Given the description of an element on the screen output the (x, y) to click on. 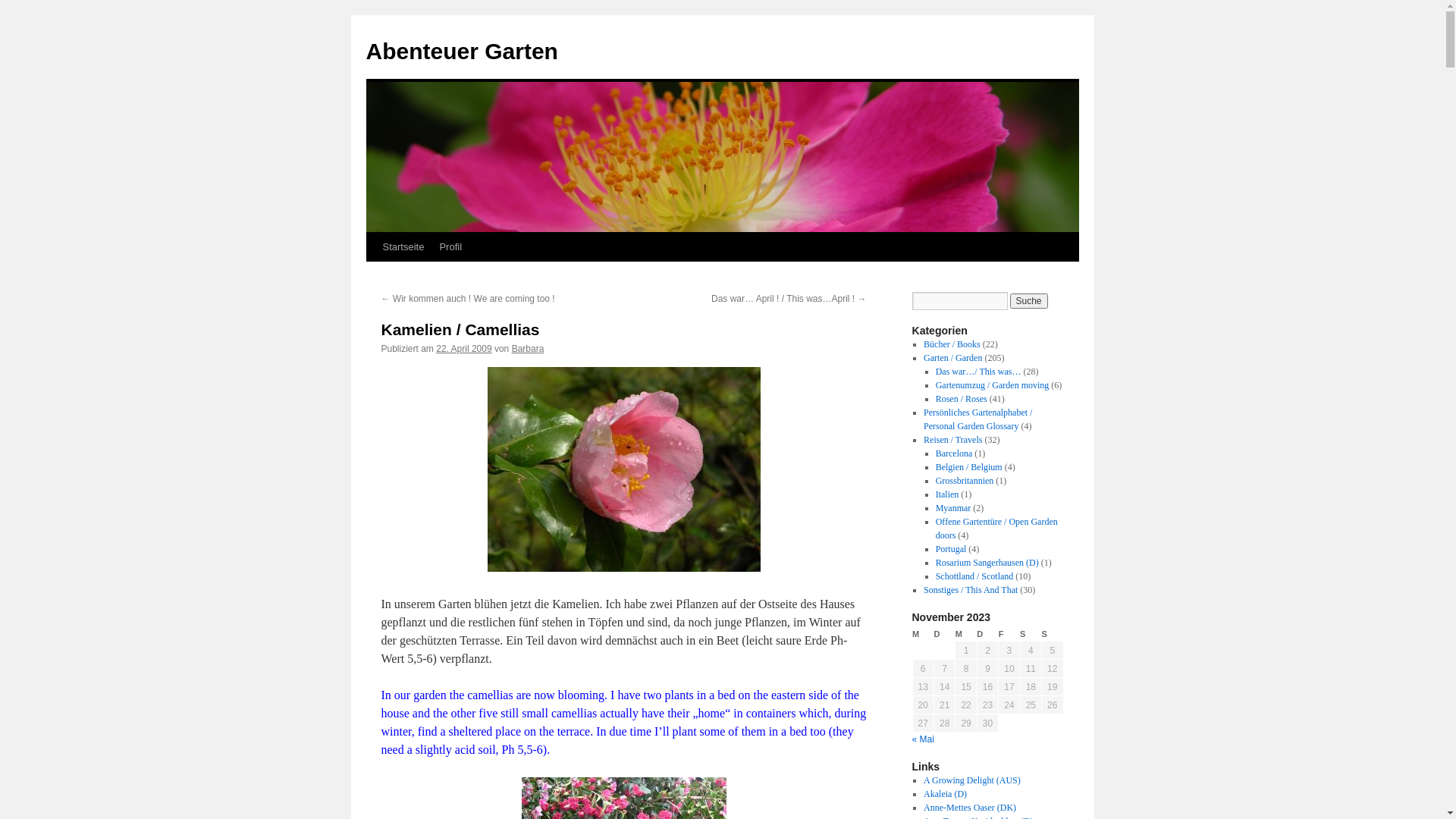
Profil Element type: text (450, 246)
Rosarium Sangerhausen (D) Element type: text (986, 562)
Garten / Garden Element type: text (952, 357)
dscn4454.jpg Element type: hover (622, 567)
Reisen / Travels Element type: text (952, 439)
Akaleia (D) Element type: text (944, 793)
A Growing Delight (AUS) Element type: text (971, 780)
Zum Inhalt springen Element type: text (372, 275)
Suche Element type: text (1029, 300)
Abenteuer Garten Element type: text (461, 50)
Myanmar Element type: text (953, 507)
Belgien / Belgium Element type: text (968, 466)
Gartenumzug / Garden moving Element type: text (992, 384)
Anne-Mettes Oaser (DK) Element type: text (969, 807)
Portugal Element type: text (950, 548)
Barbara Element type: text (527, 348)
Schottland / Scotland Element type: text (974, 576)
Italien Element type: text (947, 494)
Startseite Element type: text (402, 246)
Sonstiges / This And That Element type: text (970, 589)
22. April 2009 Element type: text (463, 348)
Barcelona Element type: text (953, 453)
Rosen / Roses Element type: text (961, 398)
Grossbritannien Element type: text (964, 480)
